Given the description of an element on the screen output the (x, y) to click on. 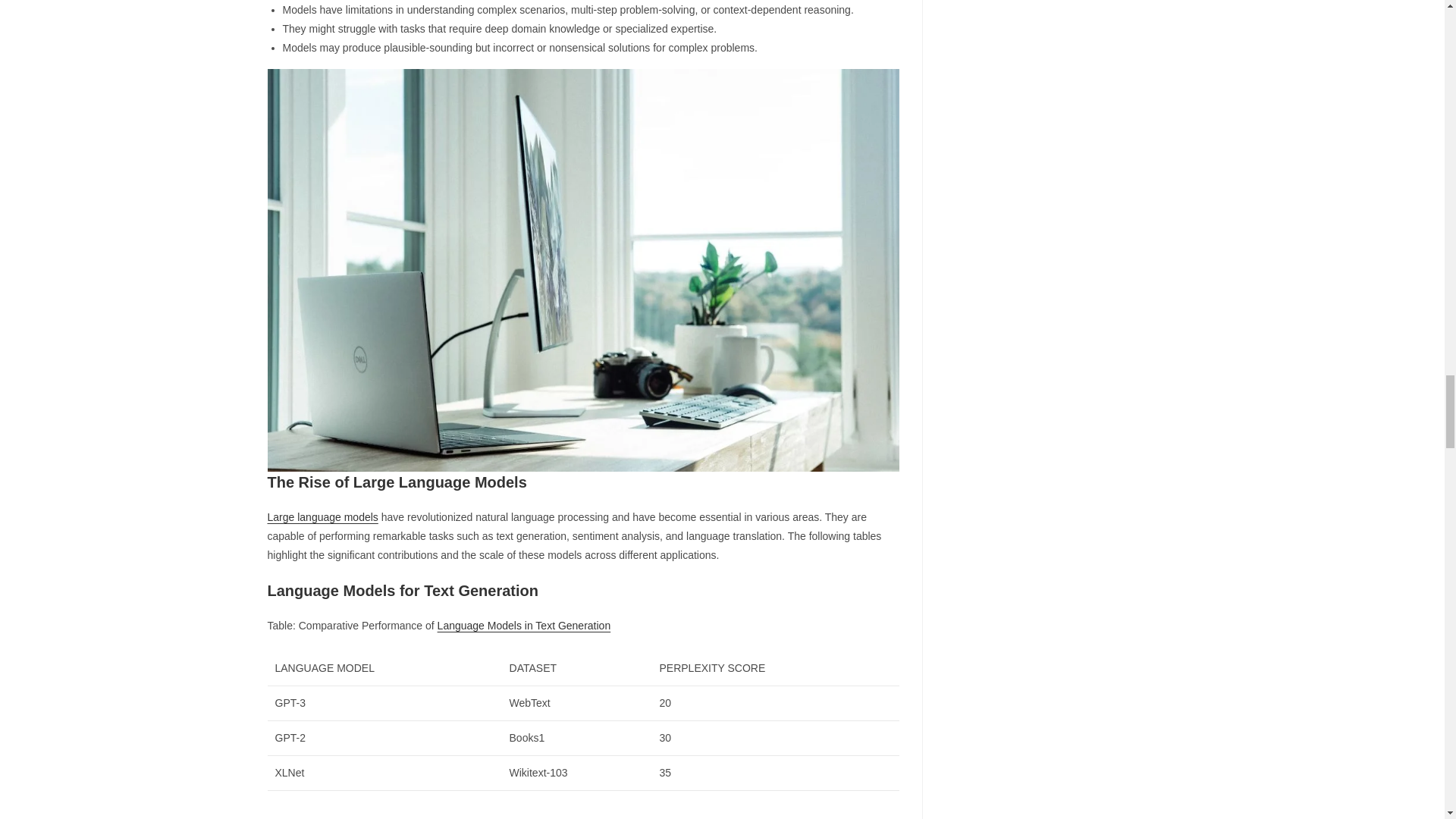
Large language models (321, 517)
Language Models in Text Generation (524, 625)
